Given the description of an element on the screen output the (x, y) to click on. 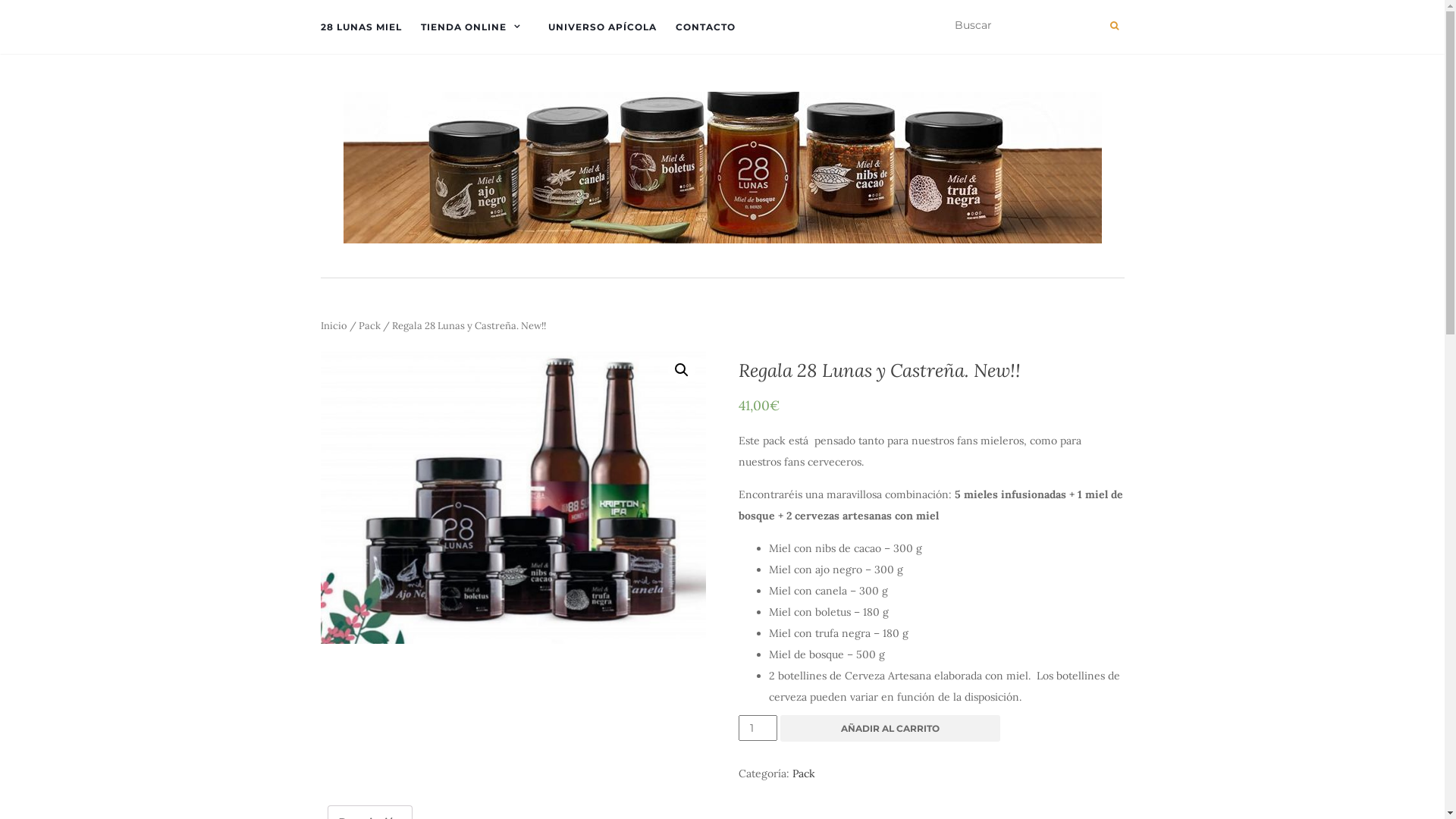
Pack Element type: text (368, 325)
Buscar Element type: text (1114, 25)
Pack Element type: text (803, 773)
TIENDA ONLINE Element type: text (474, 26)
Variedades de Miel  28 Lunas Element type: hover (513, 494)
Cantidad Element type: hover (757, 727)
Inicio Element type: text (333, 325)
CONTACTO Element type: text (704, 26)
28 LUNAS MIEL Element type: text (360, 26)
